Given the description of an element on the screen output the (x, y) to click on. 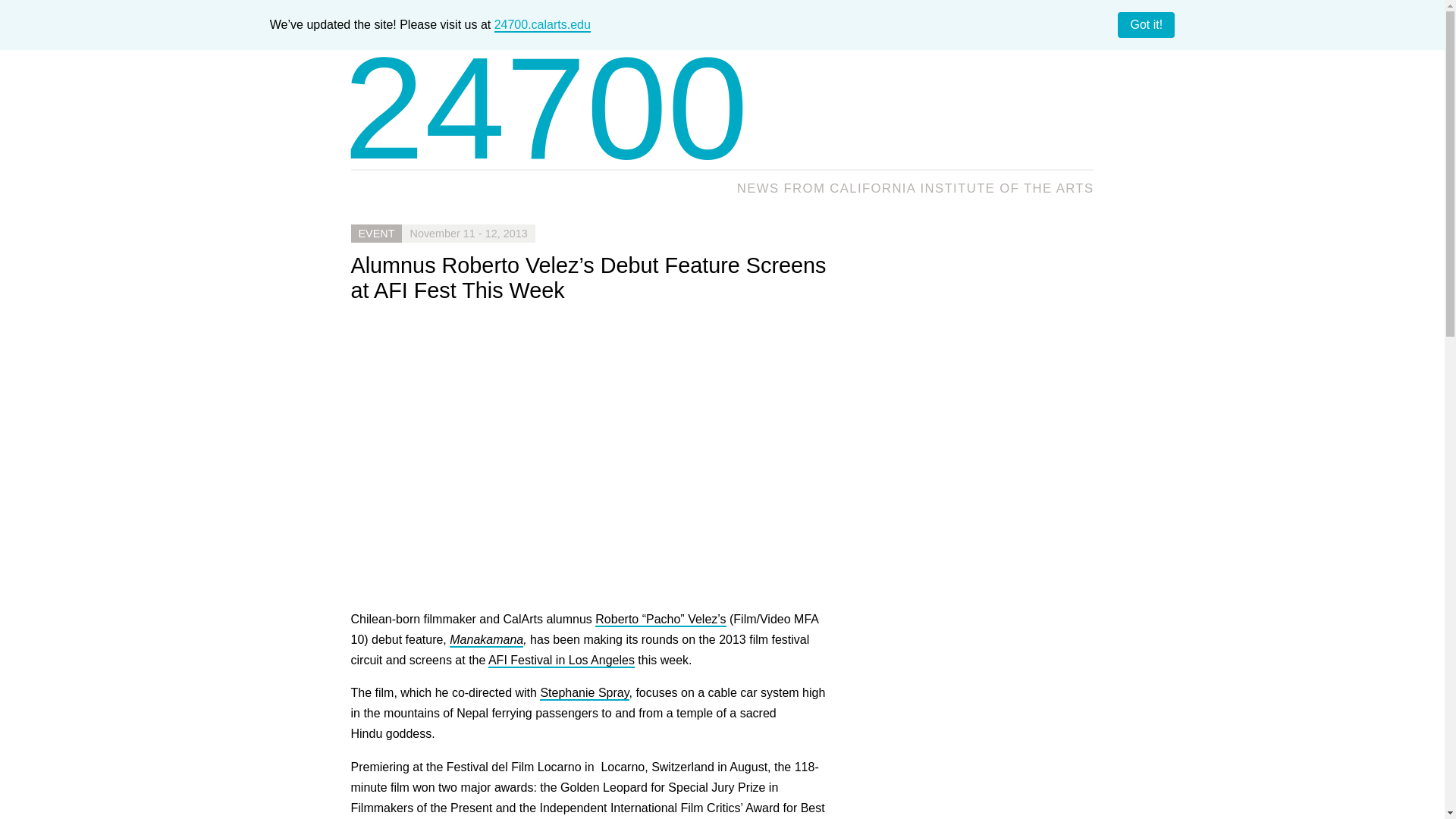
Got it! (1146, 24)
MANAKAMANA - A new film from the Sensory Ethnography Lab (592, 454)
24700.calarts.edu (543, 25)
24700 (545, 107)
Stephanie Spray (584, 693)
EVENT (375, 233)
Manakamana (485, 640)
Go (1077, 120)
AFI Festival in Los Angeles (560, 660)
Go (1077, 120)
